Given the description of an element on the screen output the (x, y) to click on. 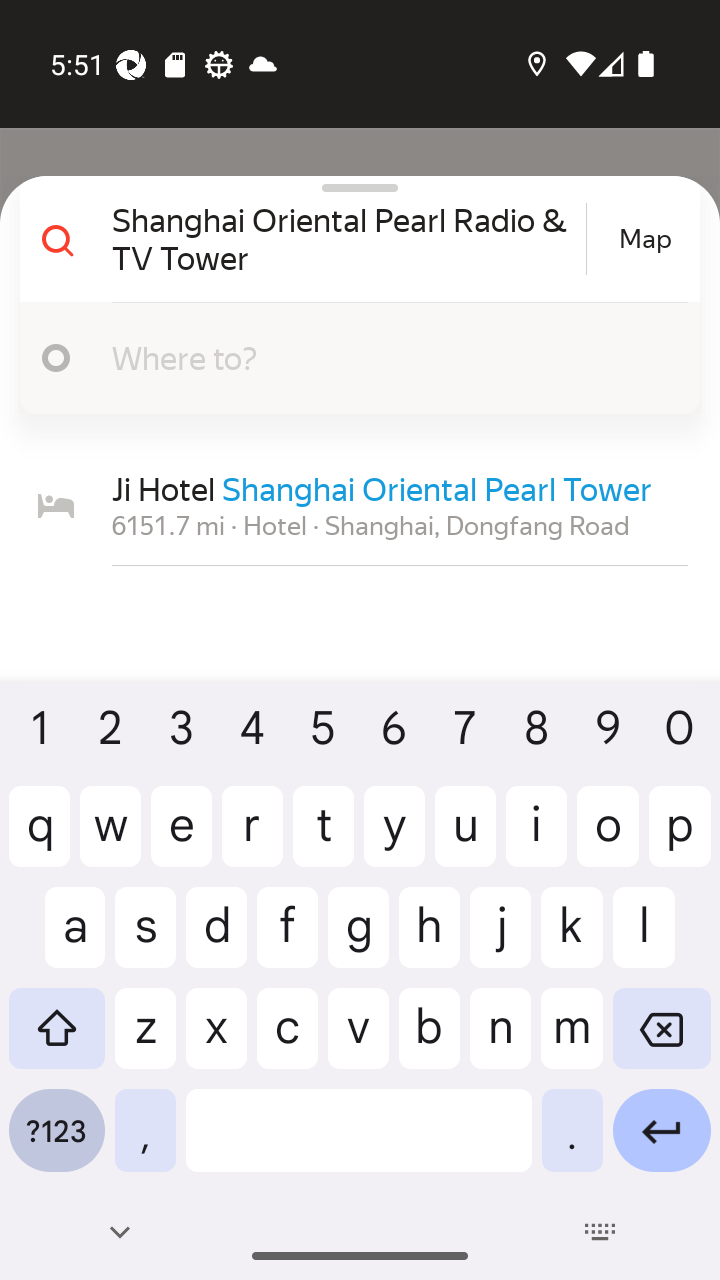
Shanghai Oriental Pearl Radio & TV Tower Map Map (352, 239)
Map (645, 239)
Shanghai Oriental Pearl Radio & TV Tower (346, 238)
Where to? (352, 357)
Where to? (390, 357)
